Given the description of an element on the screen output the (x, y) to click on. 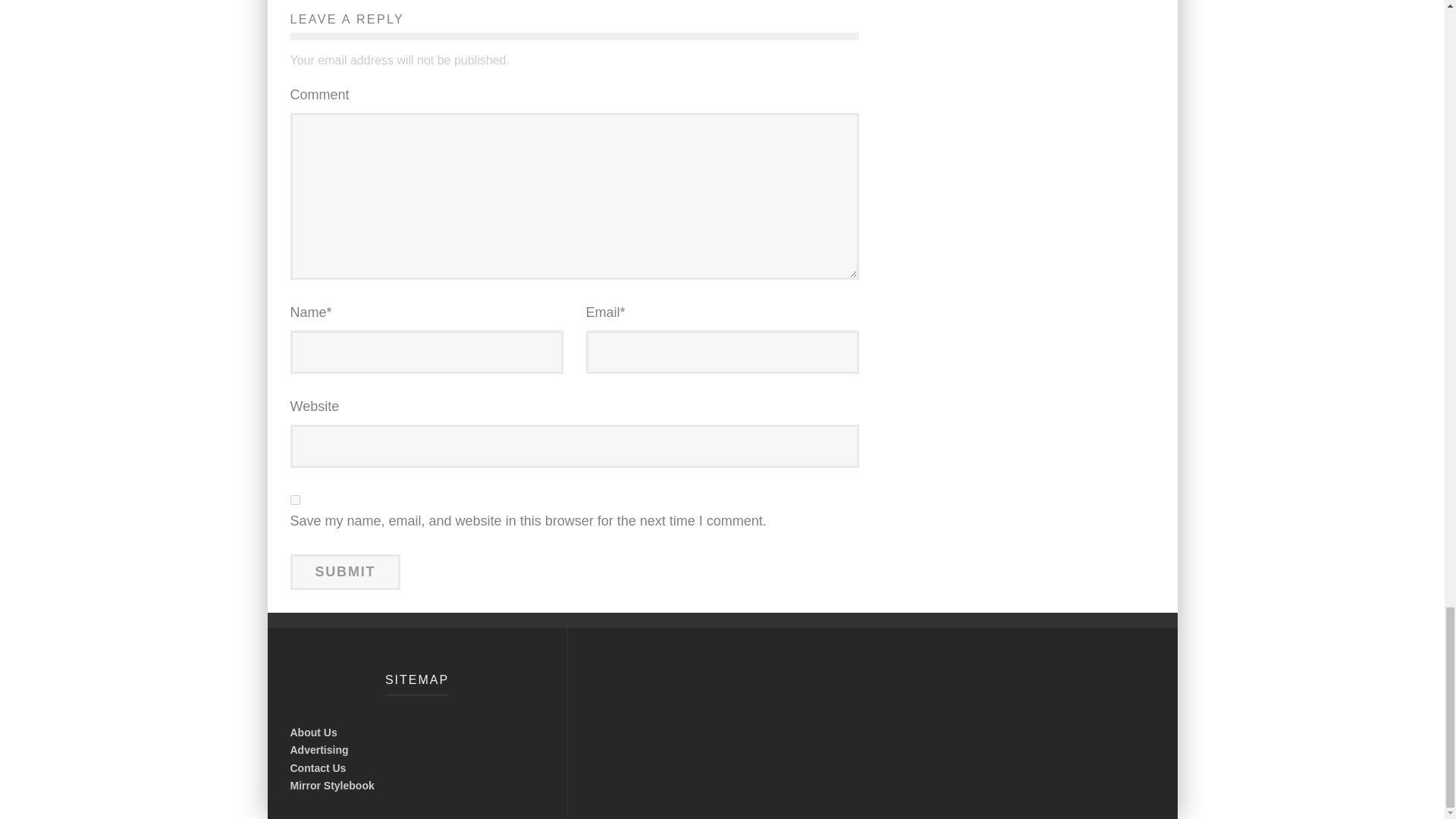
yes (294, 500)
Submit (344, 571)
